Given the description of an element on the screen output the (x, y) to click on. 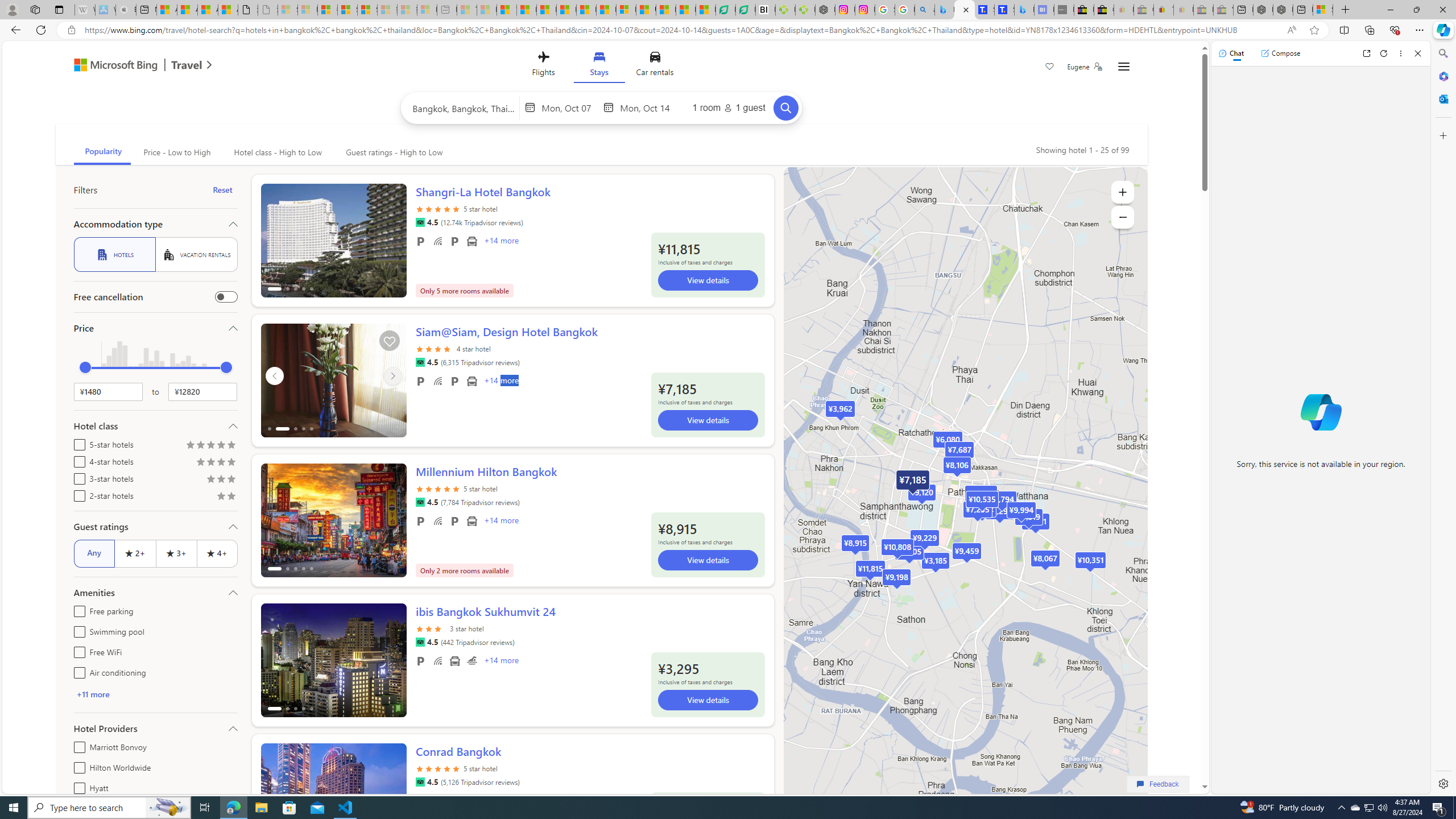
Search hotels or place (463, 107)
Safety in Our Products - Google Safety Center (884, 9)
Stays (598, 65)
Aberdeen, Hong Kong SAR severe weather | Microsoft Weather (227, 9)
Amenities (154, 592)
Microsoft Bing Travel (130, 65)
Travel (186, 65)
Save (1049, 67)
Hotel class - High to Low (277, 152)
3+ (175, 553)
